Given the description of an element on the screen output the (x, y) to click on. 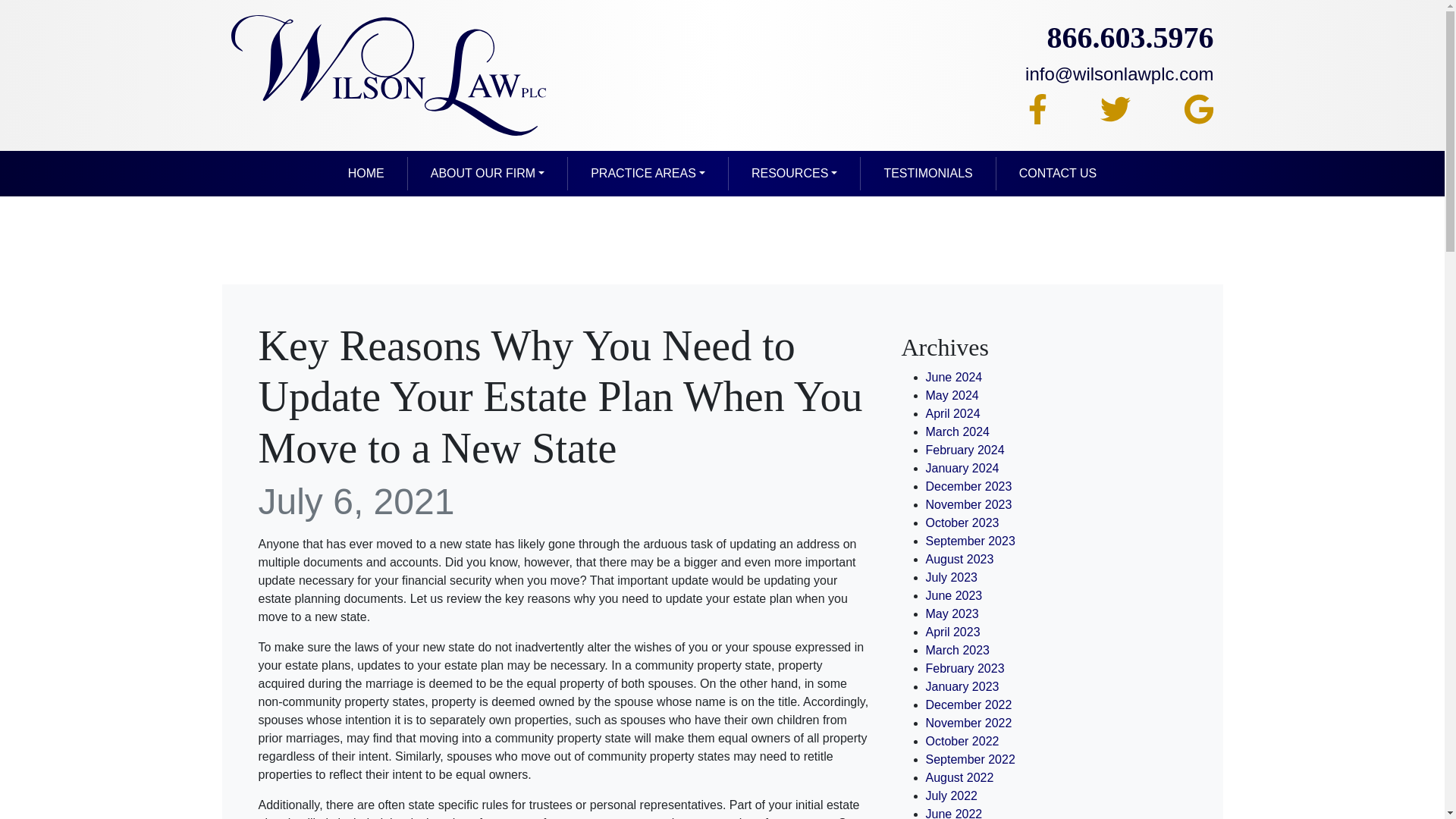
HOME (365, 173)
866.603.5976 (1096, 37)
TESTIMONIALS (927, 173)
ABOUT OUR FIRM (487, 173)
PRACTICE AREAS (648, 173)
RESOURCES (794, 173)
